Given the description of an element on the screen output the (x, y) to click on. 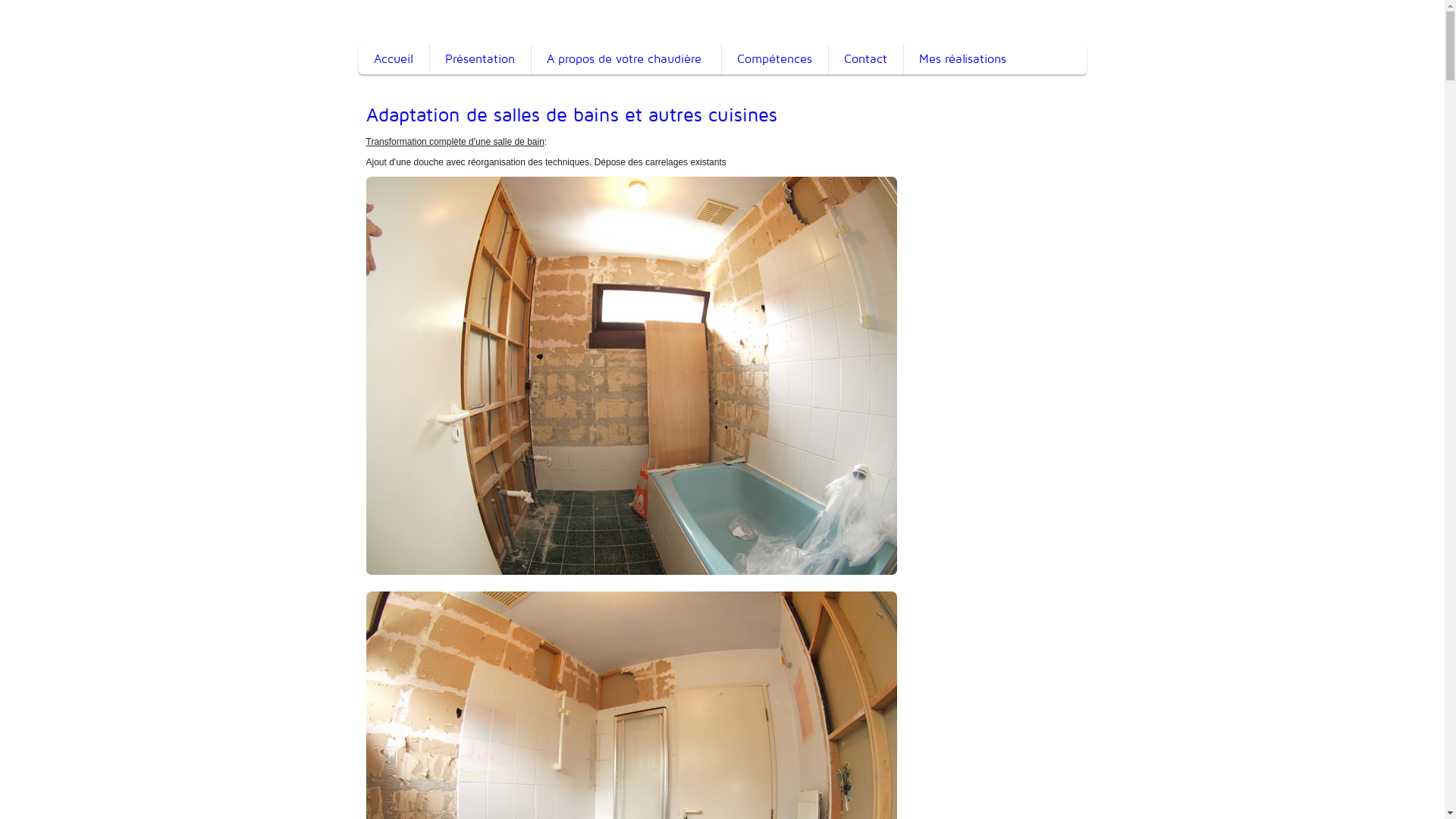
Contact Element type: text (865, 58)
Adaptation de salles de bains et autres cuisines Element type: text (721, 114)
Accueil Element type: text (392, 58)
